Given the description of an element on the screen output the (x, y) to click on. 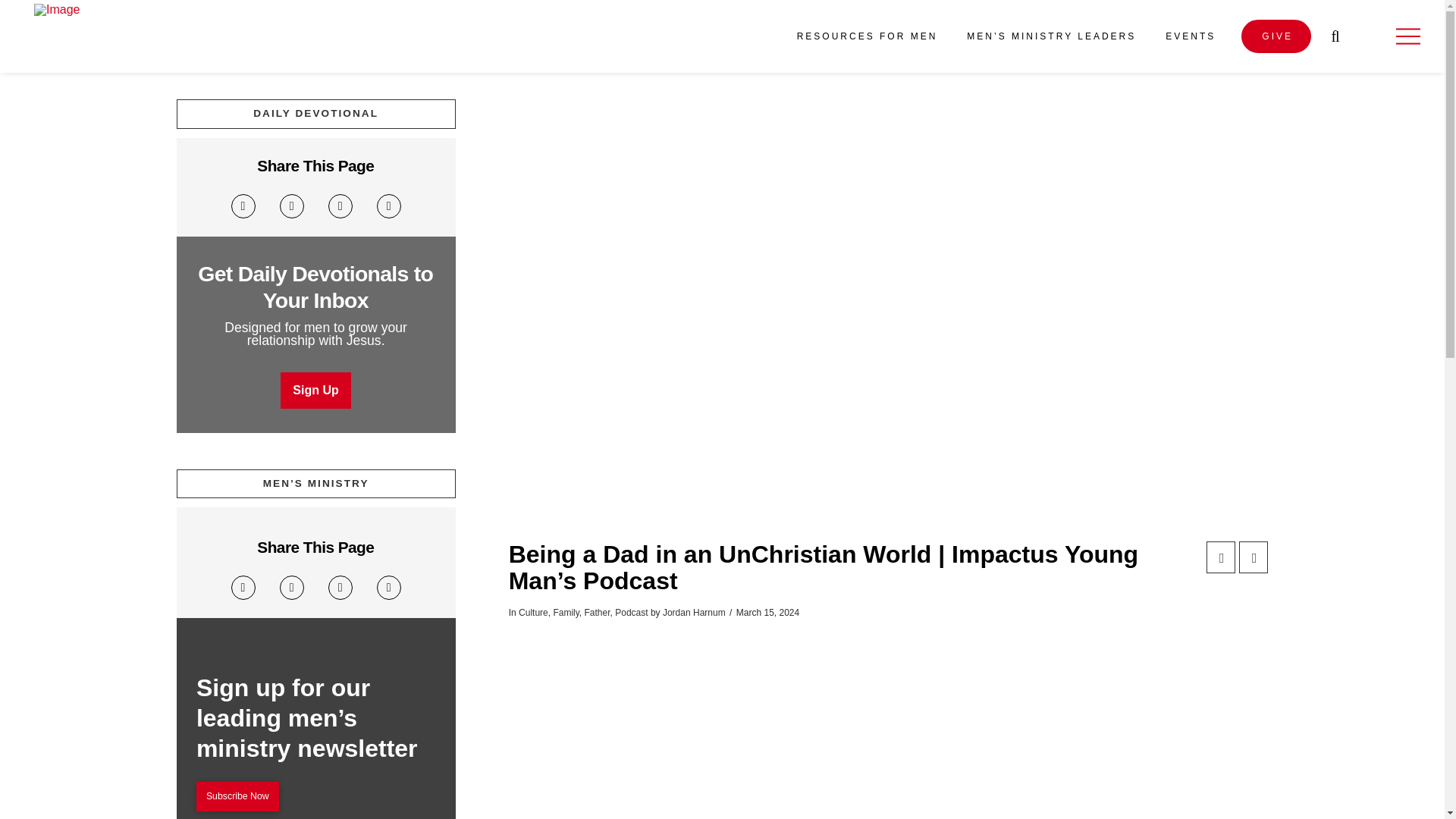
Jordan Harnum (693, 612)
Father (597, 612)
Family (565, 612)
Culture (533, 612)
Embed Player (888, 707)
Podcast (630, 612)
GIVE (1276, 36)
EVENTS (1189, 36)
RESOURCES FOR MEN (866, 36)
